Given the description of an element on the screen output the (x, y) to click on. 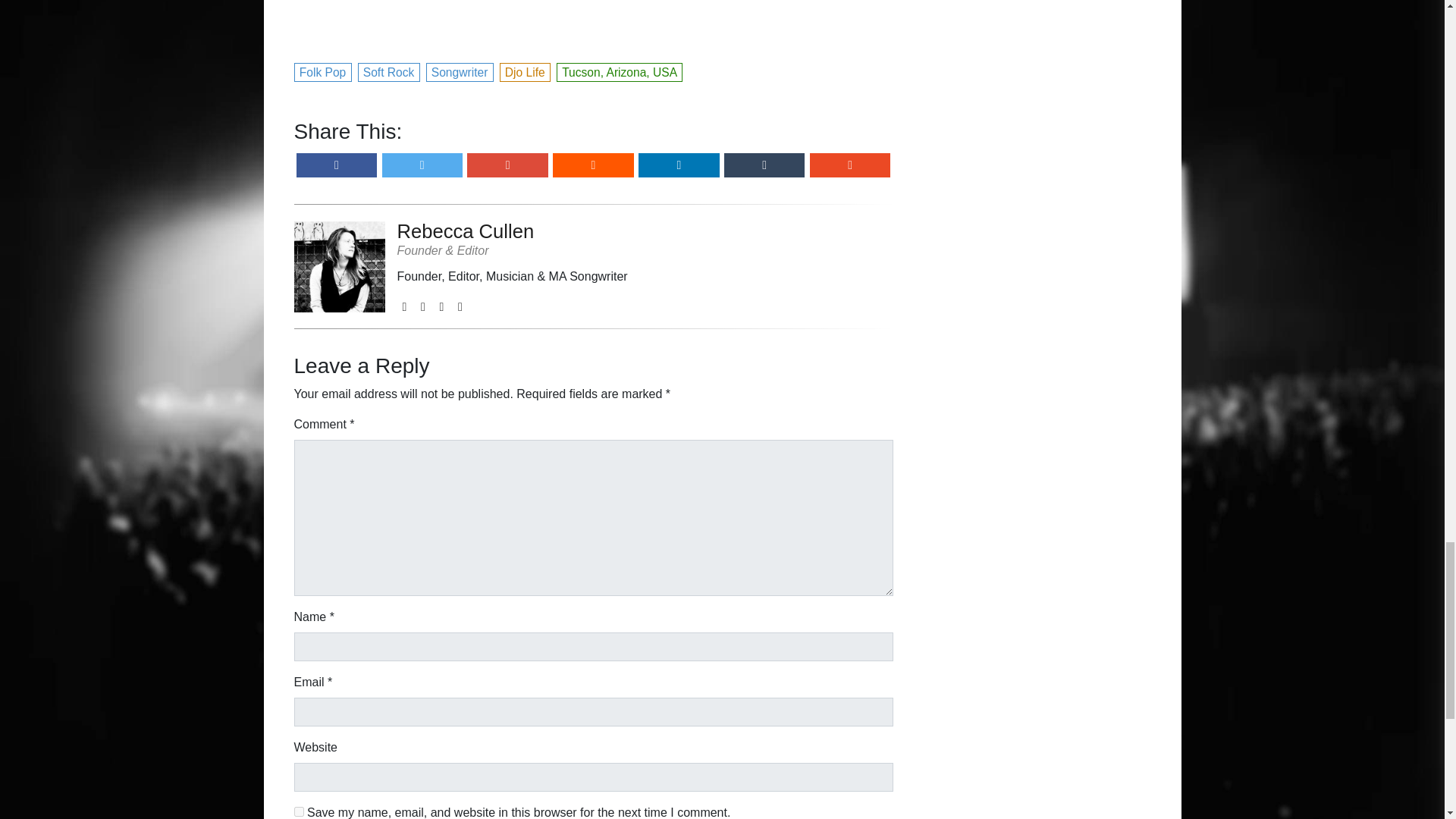
Soft Rock (390, 70)
a little love (593, 20)
Rebecca Cullen (512, 231)
yes (299, 811)
Songwriter (460, 70)
Djo Life (525, 70)
Folk Pop (323, 70)
Tucson, Arizona, USA (620, 70)
